Given the description of an element on the screen output the (x, y) to click on. 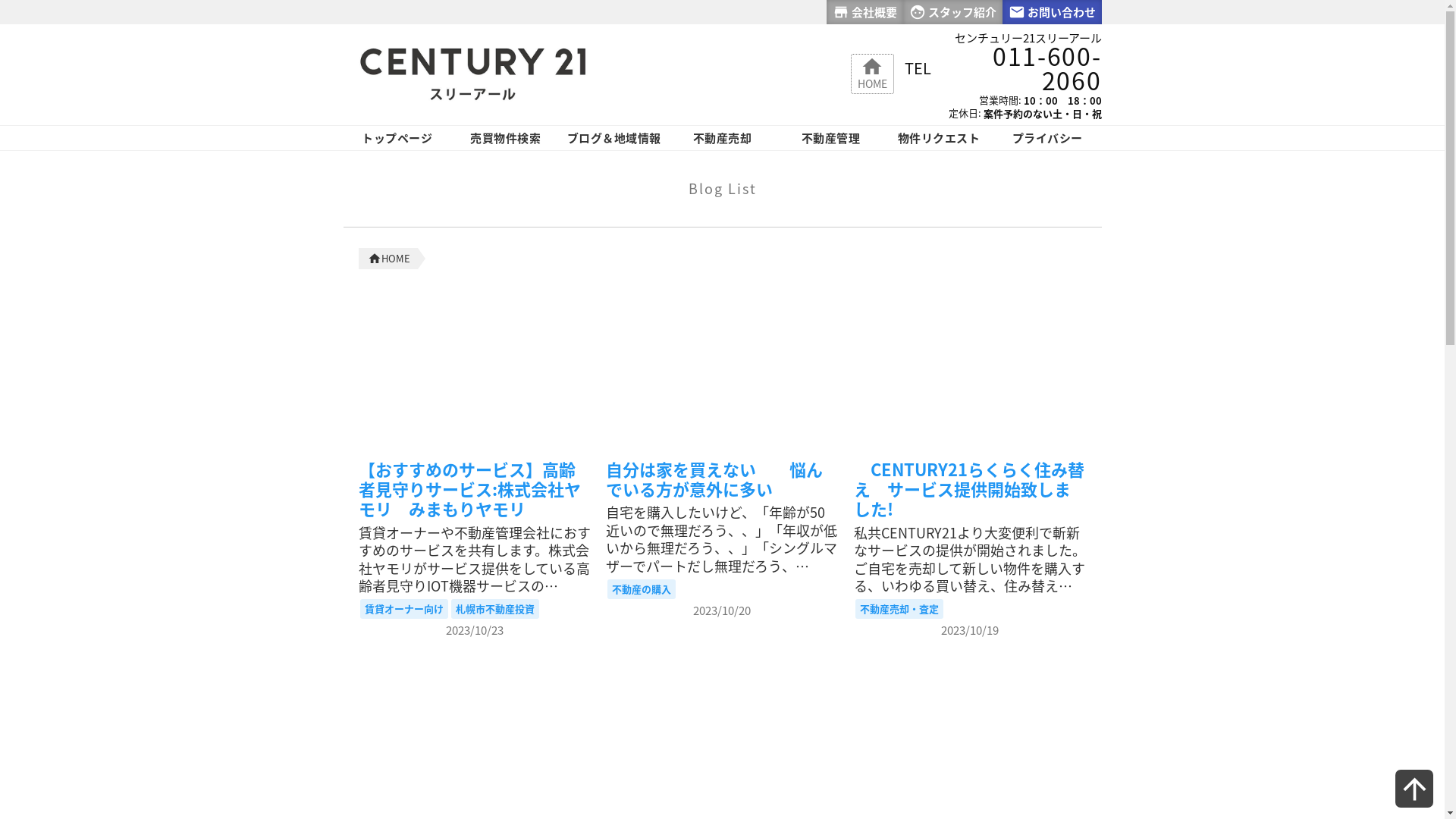
HOME Element type: text (391, 258)
011-600-2060 Element type: text (1016, 67)
HOME Element type: text (871, 71)
